Given the description of an element on the screen output the (x, y) to click on. 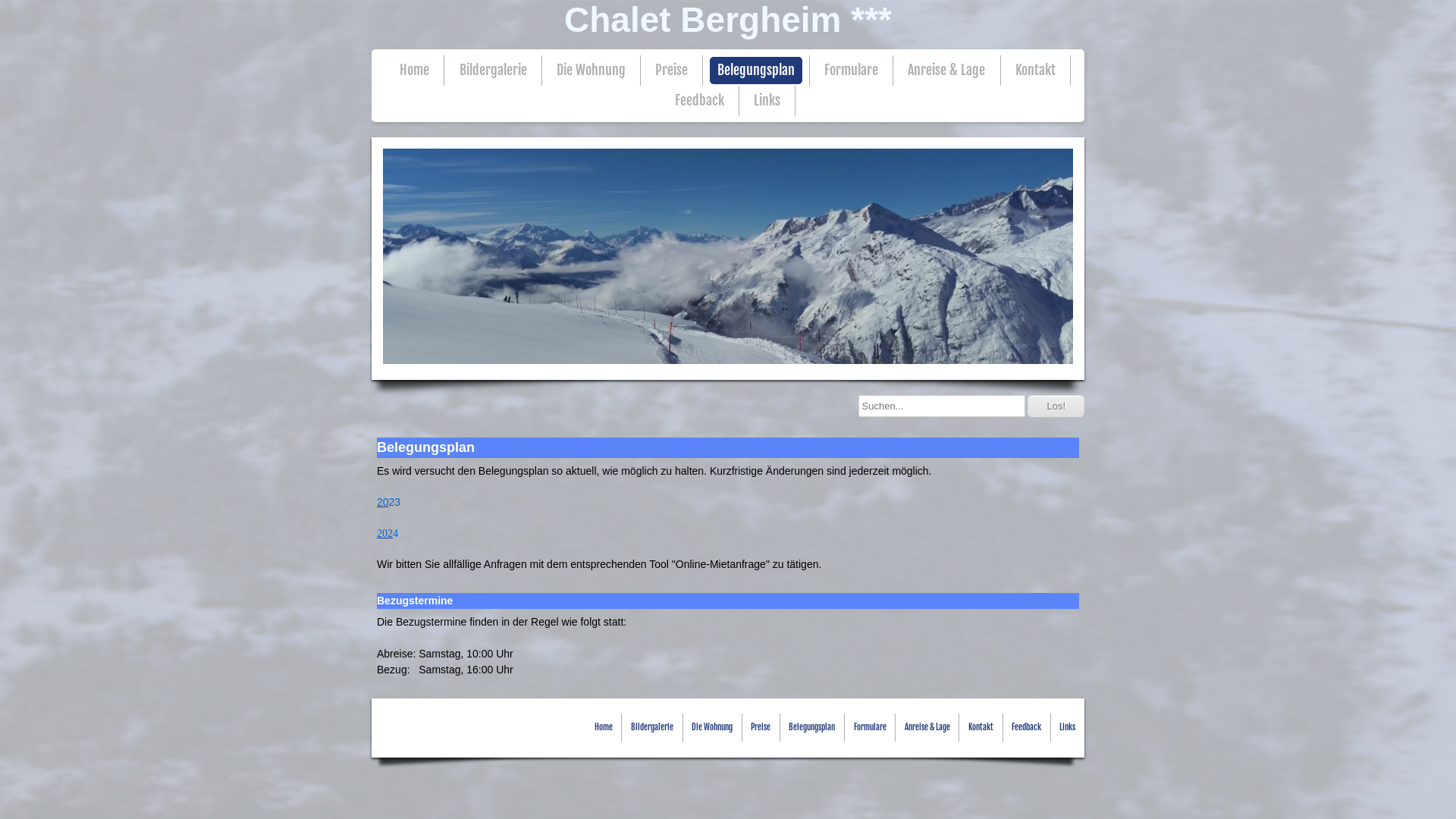
Feedback Element type: text (1026, 727)
Bildergalerie Element type: text (651, 727)
Home Element type: text (603, 727)
Chalet Bergheim *** Element type: text (727, 19)
202 Element type: text (384, 533)
Formulare Element type: text (850, 70)
Anreise & Lage Element type: text (946, 70)
Die Wohnung Element type: text (591, 70)
Links Element type: text (766, 100)
Belegungsplan Element type: text (755, 70)
20 Element type: text (382, 501)
Die Wohnung Element type: text (712, 727)
Los! Element type: text (1055, 406)
Anreise & Lage Element type: text (927, 727)
Formulare Element type: text (870, 727)
Belegungsplan Element type: text (811, 727)
Bildergalerie Element type: text (492, 70)
Preise Element type: text (671, 70)
Kontakt Element type: text (980, 727)
Kontakt Element type: text (1035, 70)
Home Element type: text (414, 70)
Links Element type: text (1066, 727)
Feedback Element type: text (699, 100)
Preise Element type: text (760, 727)
